Given the description of an element on the screen output the (x, y) to click on. 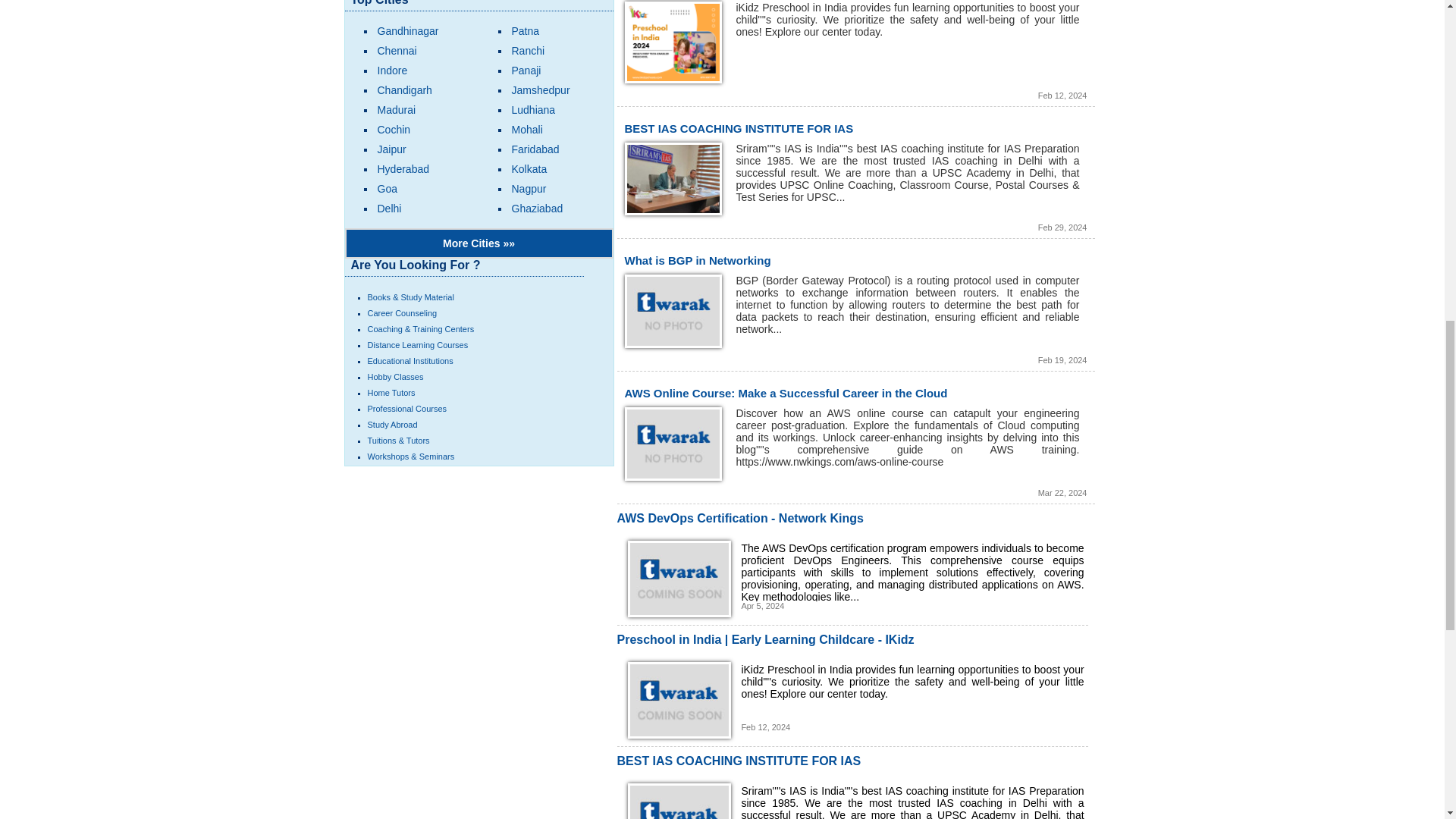
Patna (524, 30)
Hyderabad (403, 168)
Goa (387, 188)
Delhi (389, 208)
Indore (392, 70)
Ranchi (527, 50)
Gandhinagar (408, 30)
Madurai (396, 110)
Chennai (396, 50)
Jaipur (391, 149)
Cochin (393, 129)
Chandigarh (404, 90)
